Given the description of an element on the screen output the (x, y) to click on. 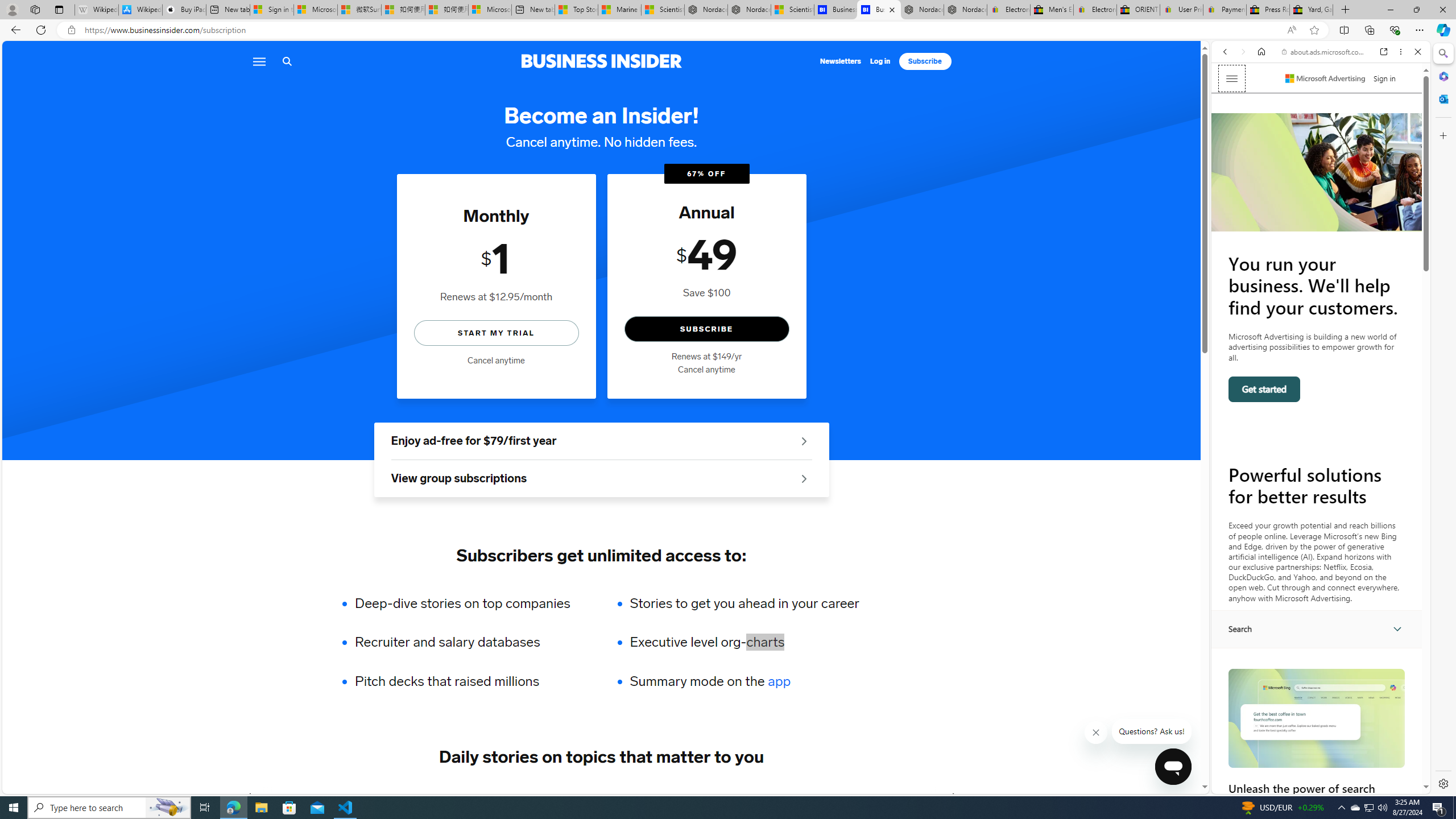
Open in New Tab (1321, 768)
Pitch decks that raised millions (470, 681)
Questions? Ask us! (1152, 731)
